Given the description of an element on the screen output the (x, y) to click on. 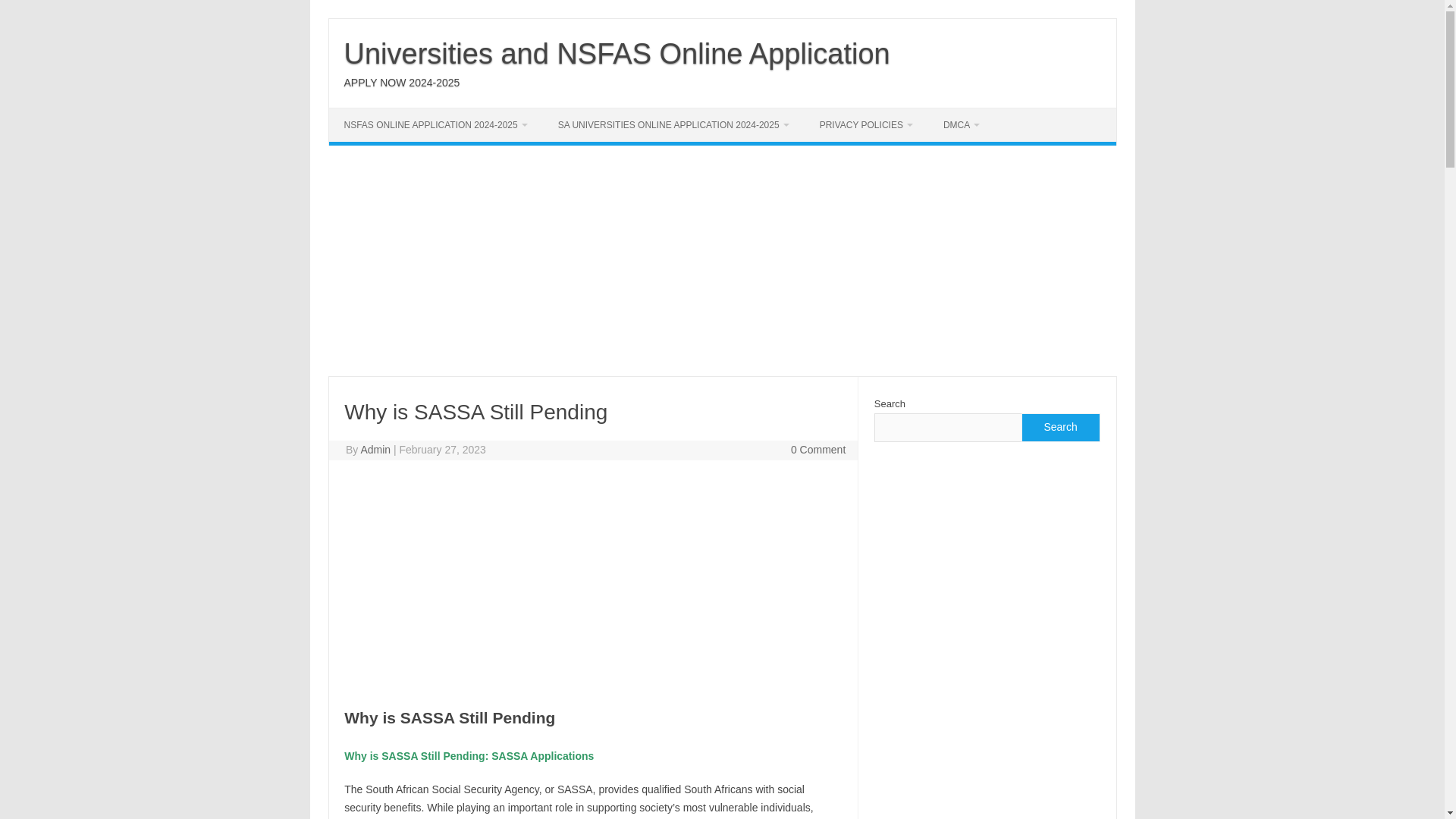
Universities and NSFAS Online Application (616, 53)
DMCA (961, 124)
Universities and NSFAS Online Application (616, 53)
0 Comment (817, 449)
Advertisement (592, 581)
NSFAS ONLINE APPLICATION 2024-2025 (436, 124)
SA UNIVERSITIES ONLINE APPLICATION 2024-2025 (674, 124)
